Given the description of an element on the screen output the (x, y) to click on. 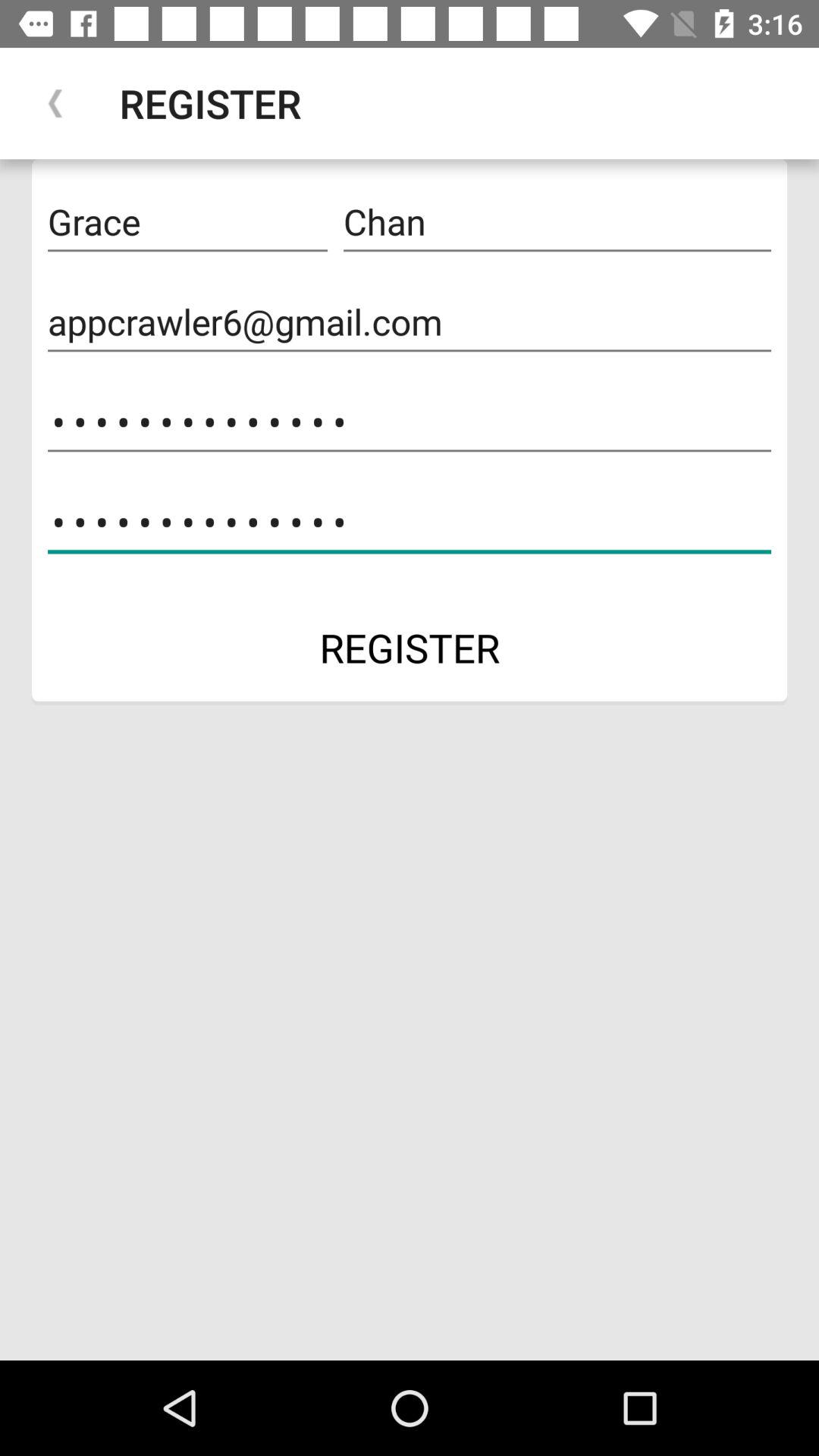
open the icon above the appcrawler6@gmail.com icon (187, 222)
